Given the description of an element on the screen output the (x, y) to click on. 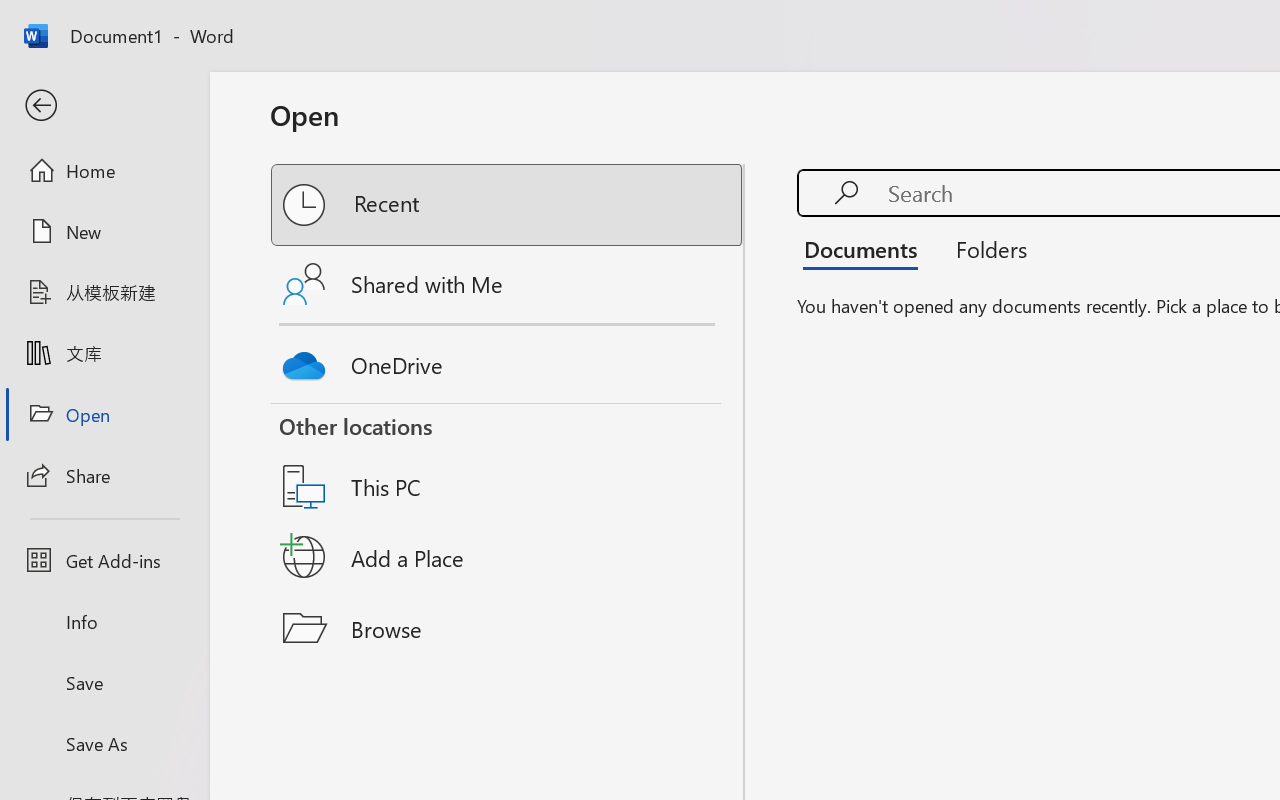
Shared with Me (507, 283)
Back (104, 106)
New (104, 231)
Browse (507, 627)
Recent (507, 205)
Add a Place (507, 557)
Info (104, 621)
Folders (984, 248)
OneDrive (507, 359)
